Given the description of an element on the screen output the (x, y) to click on. 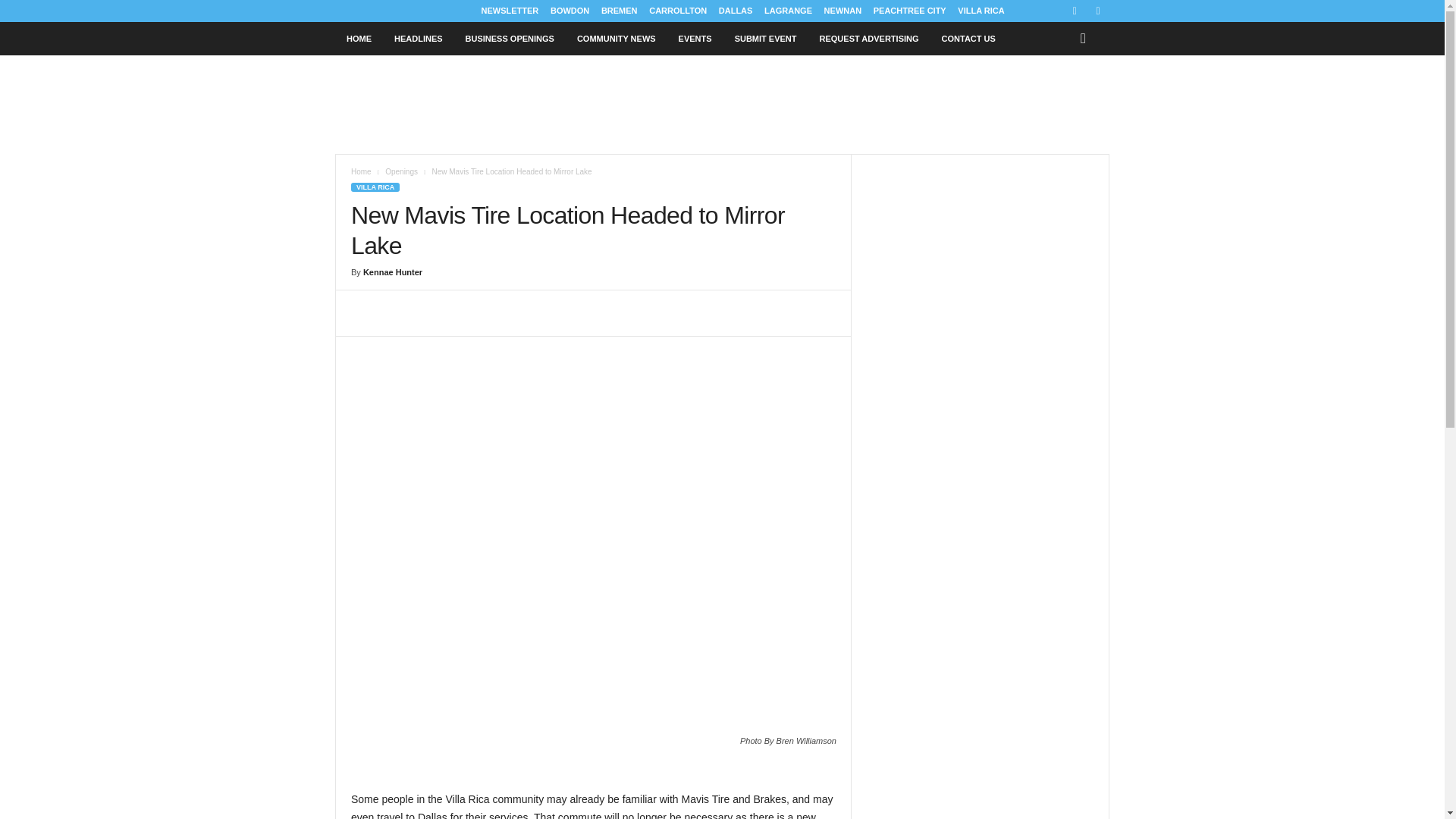
BOWDON (569, 10)
NEWNAN (842, 10)
Openings (401, 171)
PEACHTREE CITY (909, 10)
DALLAS (735, 10)
CONTACT US (968, 38)
BUSINESS OPENINGS (510, 38)
VILLA RICA (981, 10)
SUBMIT EVENT (765, 38)
NEWSLETTER (509, 10)
